Given the description of an element on the screen output the (x, y) to click on. 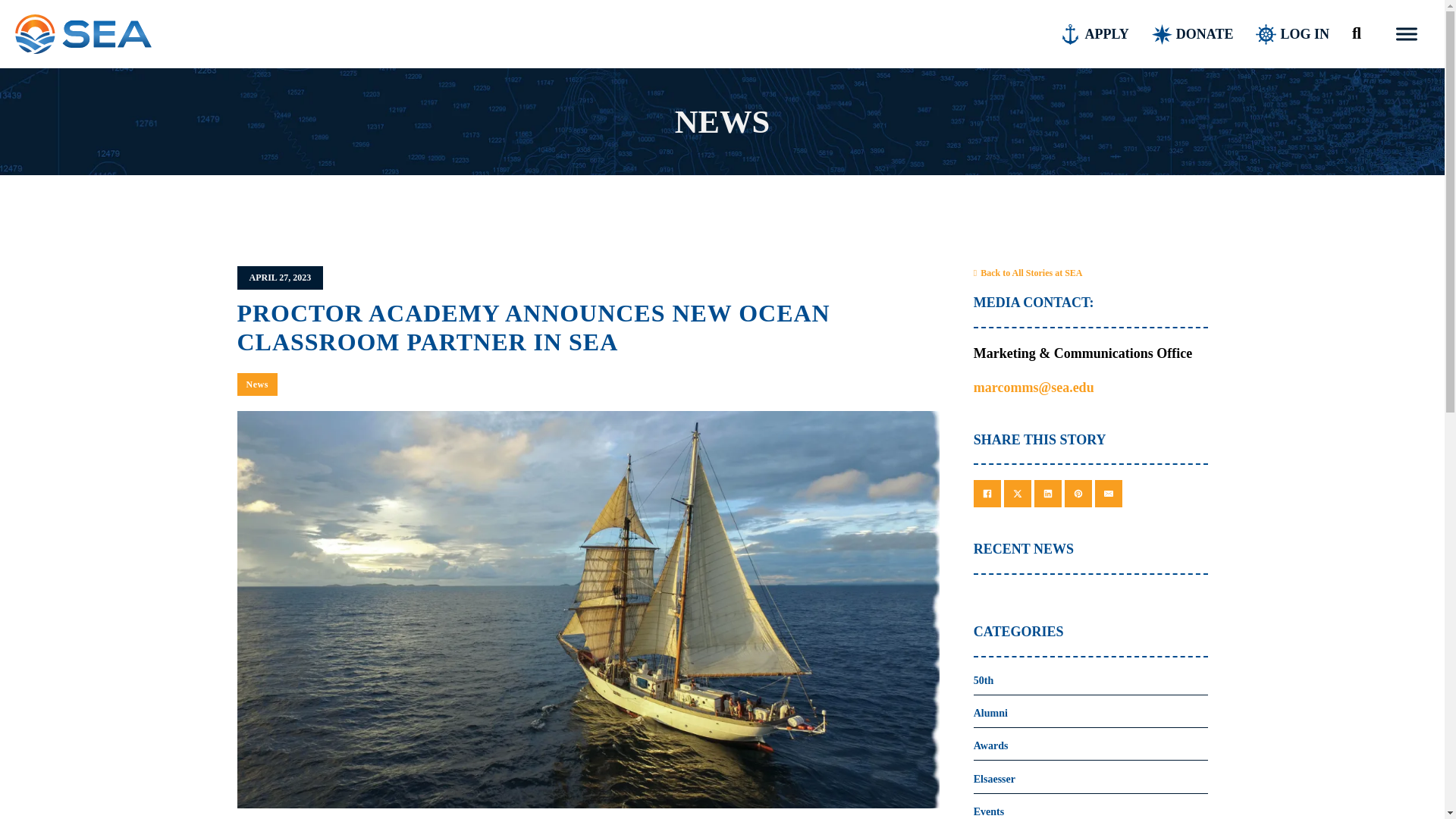
APPLY (1093, 34)
LOG IN (1292, 34)
DONATE (1192, 34)
